Given the description of an element on the screen output the (x, y) to click on. 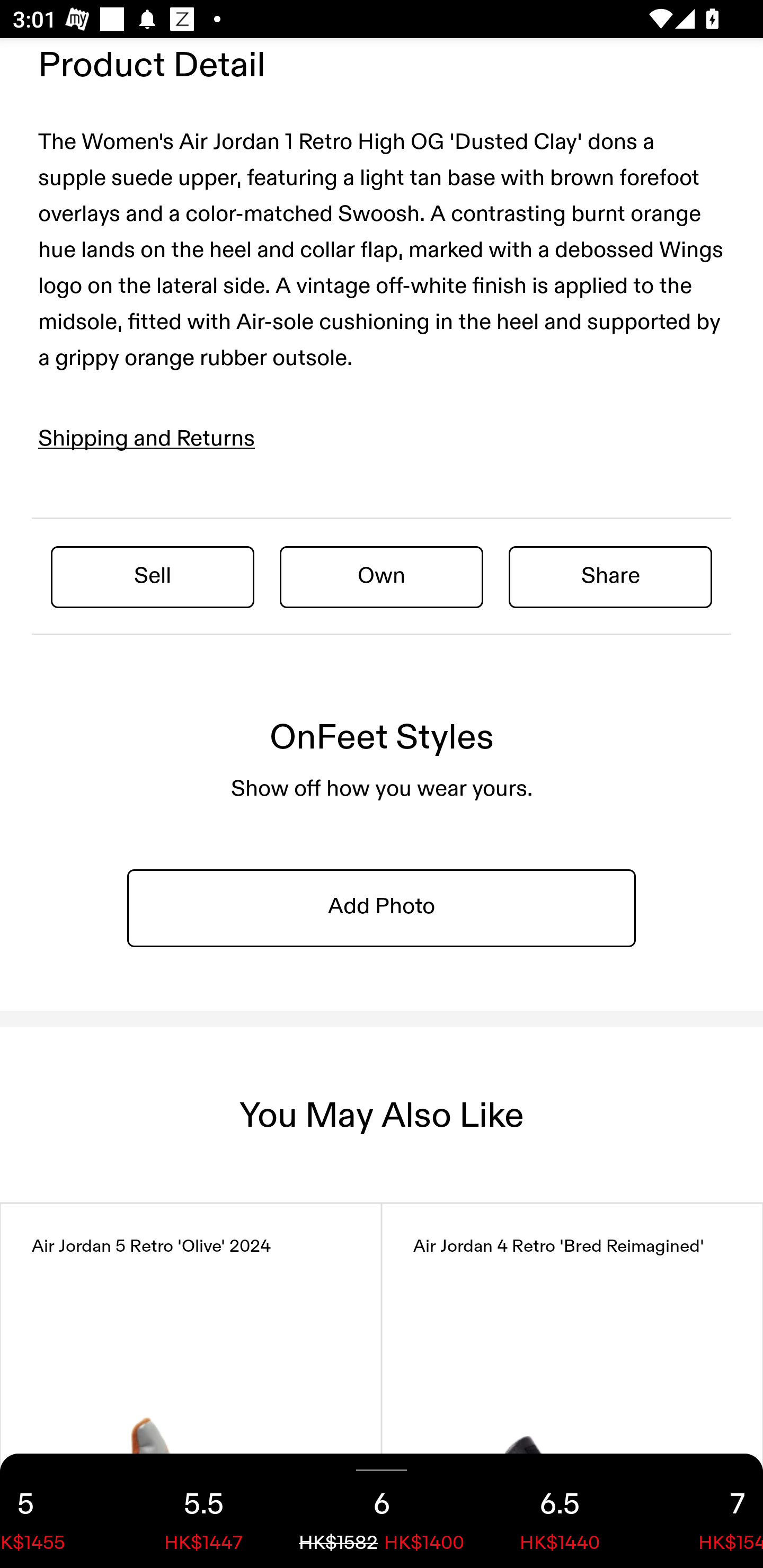
Shipping and Returns (146, 438)
Sell (152, 576)
Own (381, 576)
Share (609, 576)
Add Photo (381, 907)
Air Jordan 5 Retro 'Olive' 2024 (190, 1385)
Air Jordan 4 Retro 'Bred Reimagined' (572, 1385)
5 HK$1455 (57, 1510)
5.5 HK$1447 (203, 1510)
6 HK$1582 HK$1400 (381, 1510)
6.5 HK$1440 (559, 1510)
7 HK$1542 (705, 1510)
